Given the description of an element on the screen output the (x, y) to click on. 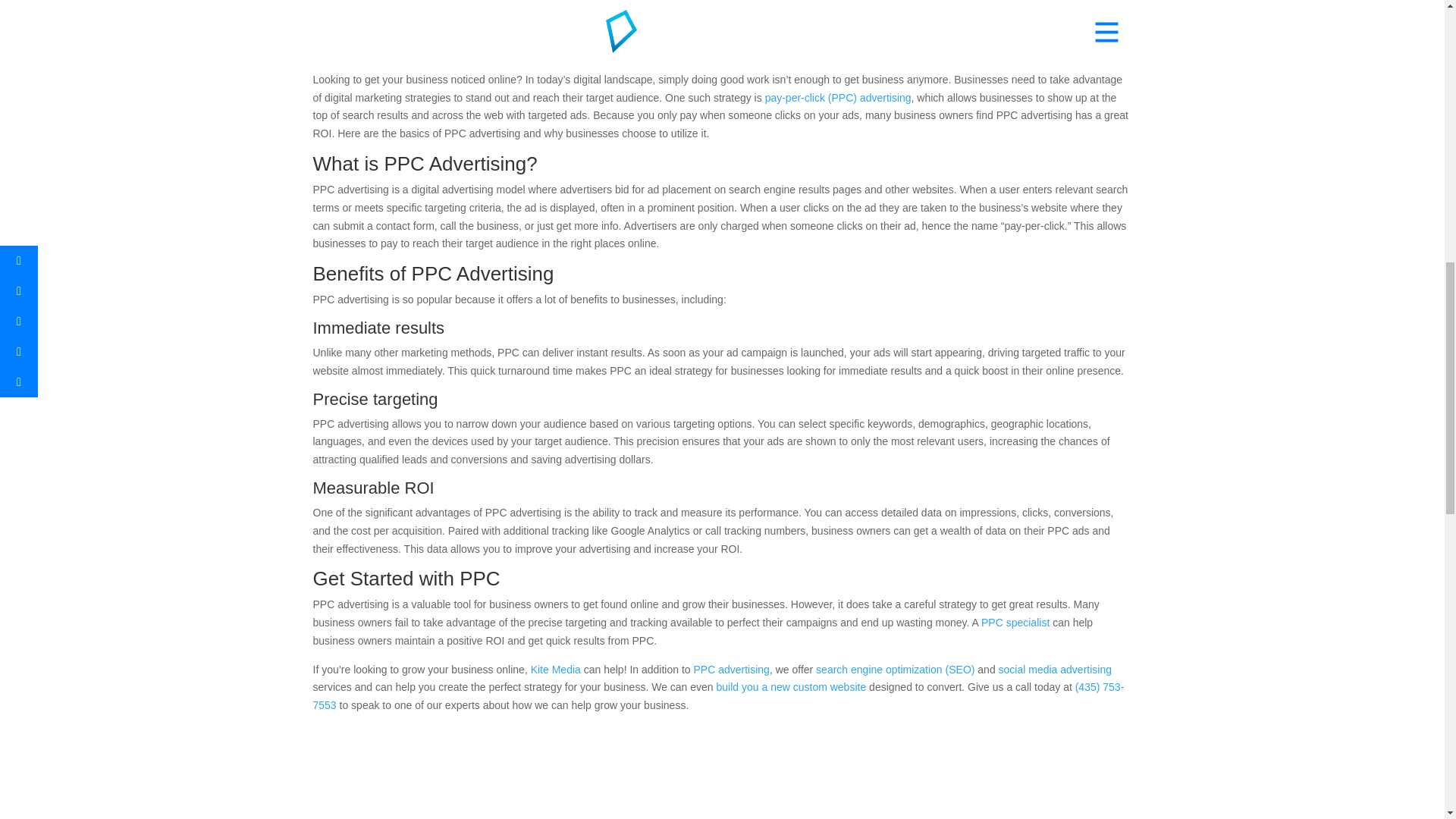
social media advertising (1055, 669)
Kite Media (555, 669)
PPC advertising (730, 669)
build you a new custom website (791, 686)
PPC specialist (1015, 622)
